Given the description of an element on the screen output the (x, y) to click on. 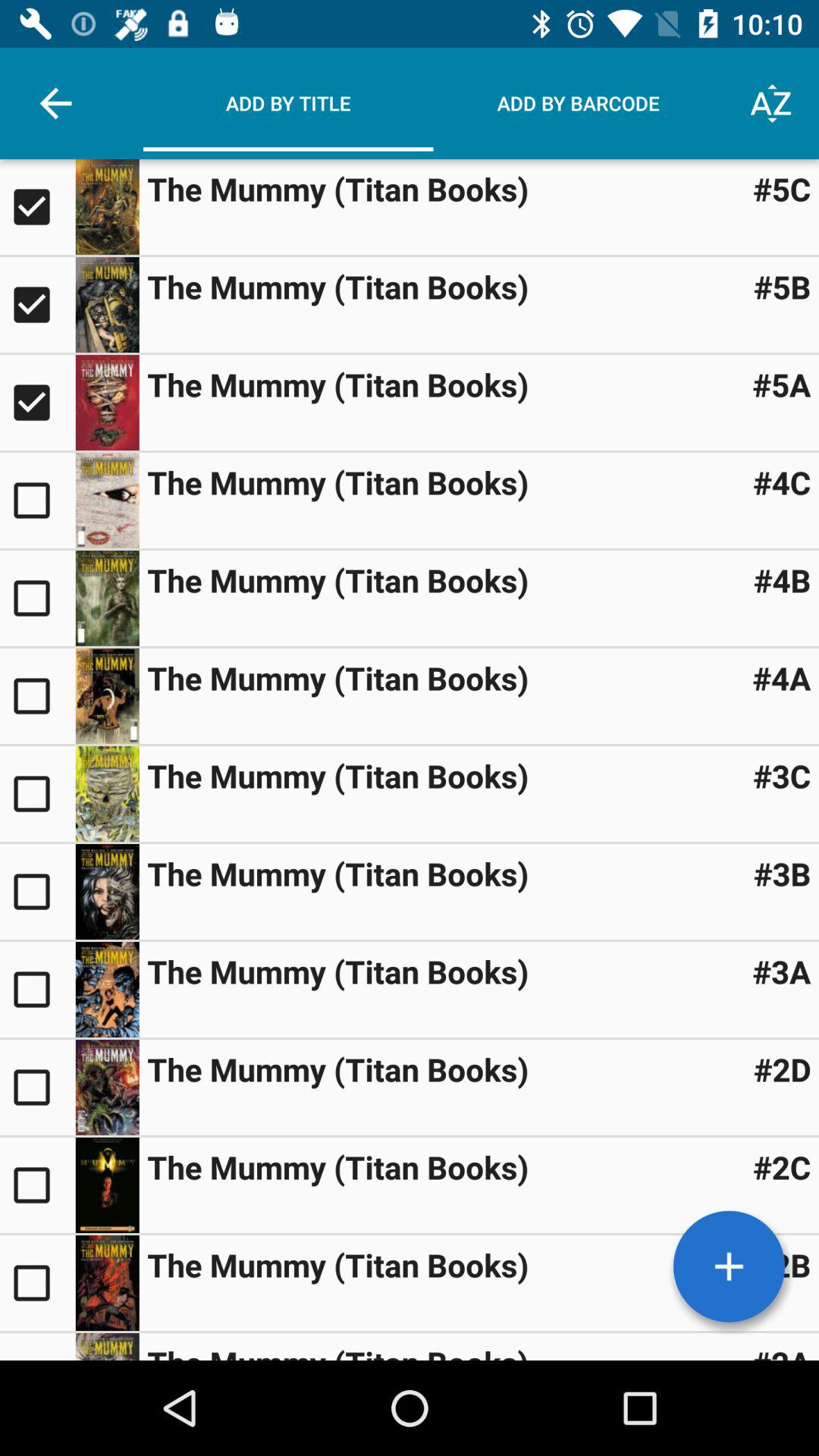
open item to the right of the the mummy titan item (782, 1166)
